Given the description of an element on the screen output the (x, y) to click on. 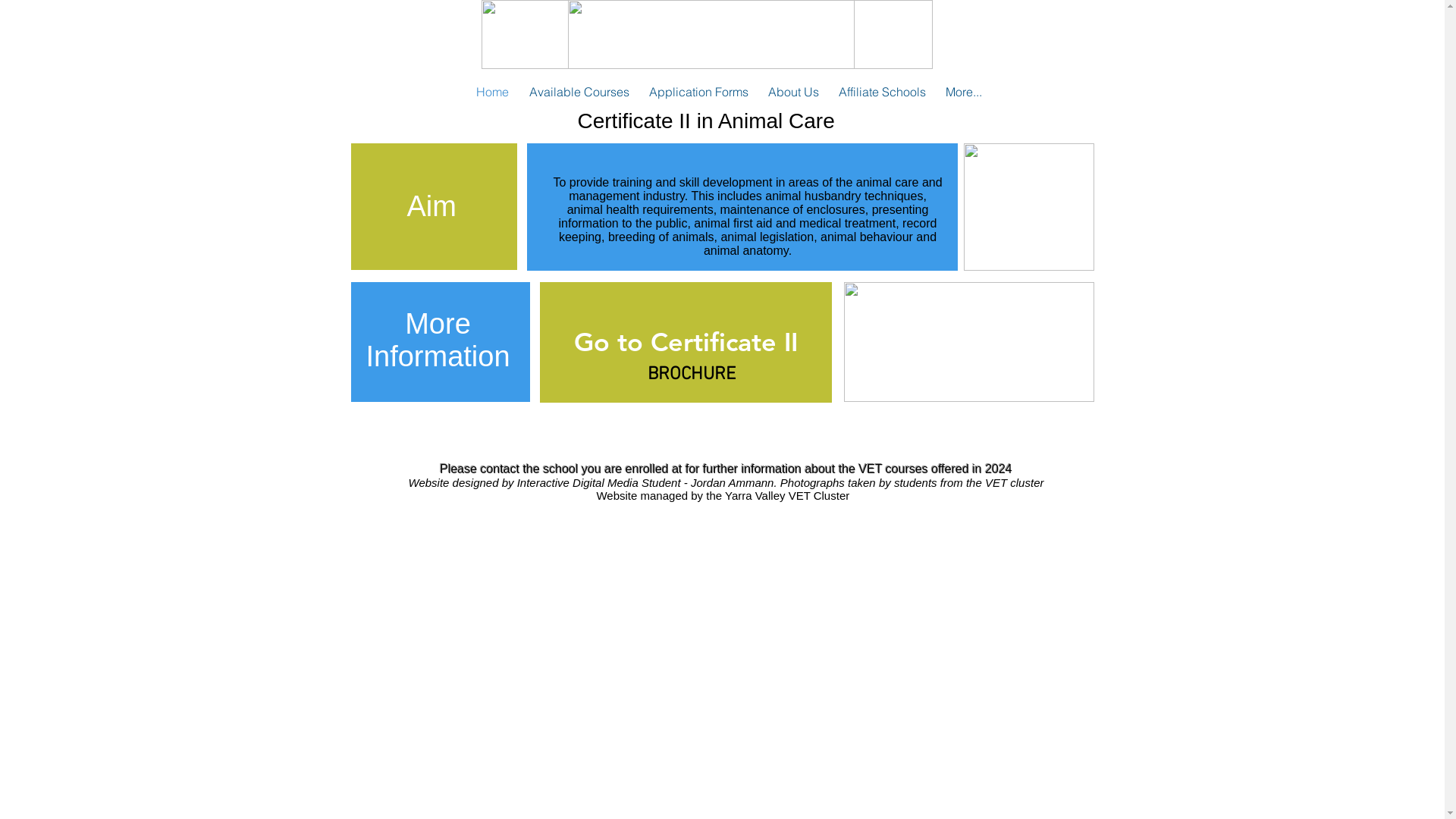
Certificate II in Animal Care Element type: text (705, 120)
Site Search Element type: hover (1056, 34)
Available Courses Element type: text (578, 91)
white-page-2.jpg Element type: hover (710, 34)
Affiliate Schools Element type: text (881, 91)
Application Forms Element type: text (697, 91)
dogs-984015_960_720.jpg Element type: hover (1028, 206)
About Us Element type: text (793, 91)
yvvc logo.png Element type: hover (705, 34)
Go to Certificate II Element type: text (685, 342)
IMG_5192 (1).jpg Element type: hover (968, 341)
Home Element type: text (491, 91)
